Given the description of an element on the screen output the (x, y) to click on. 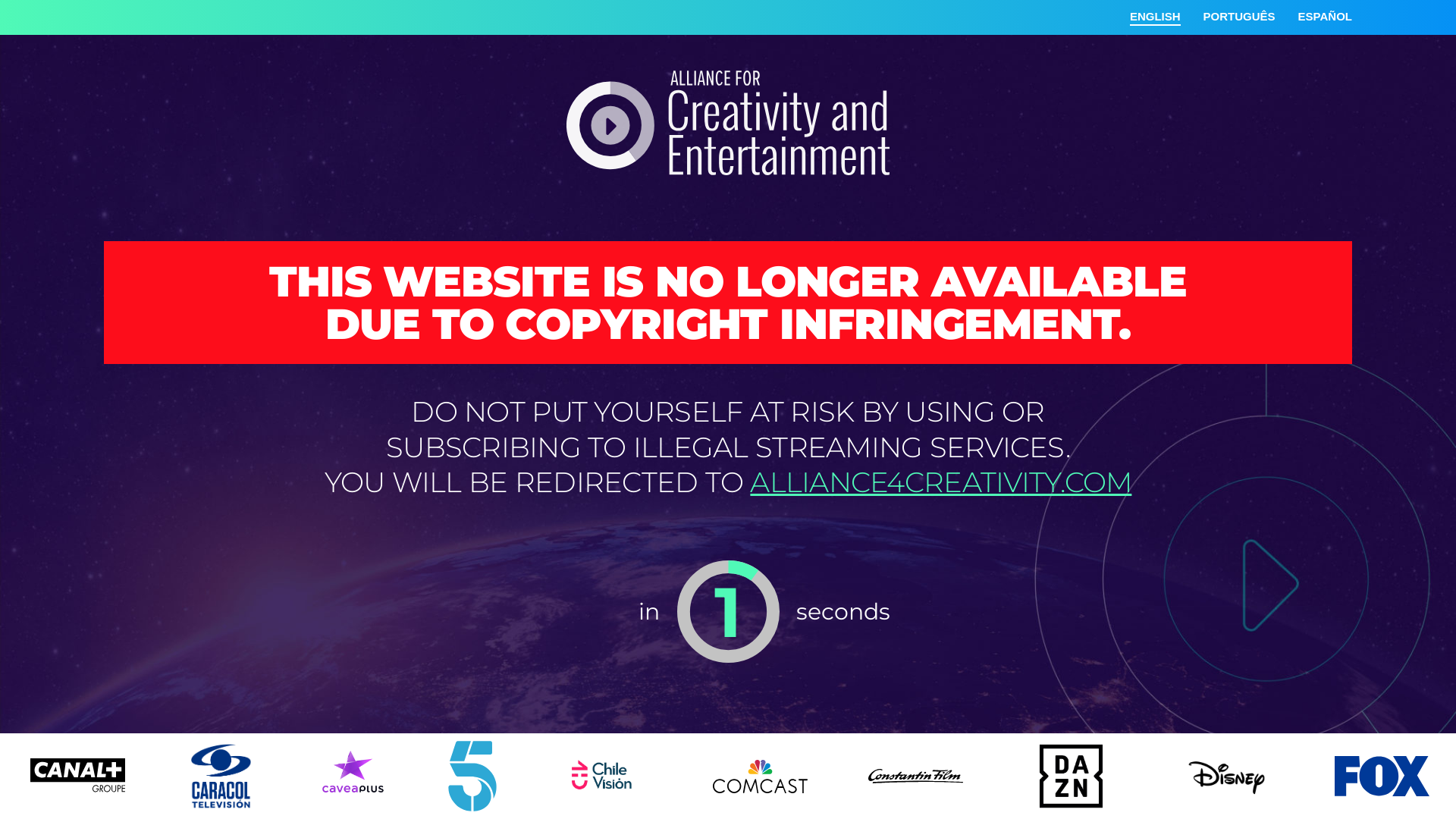
ALLIANCE4CREATIVITY.COM Element type: text (940, 481)
ENGLISH Element type: text (1154, 17)
